Given the description of an element on the screen output the (x, y) to click on. 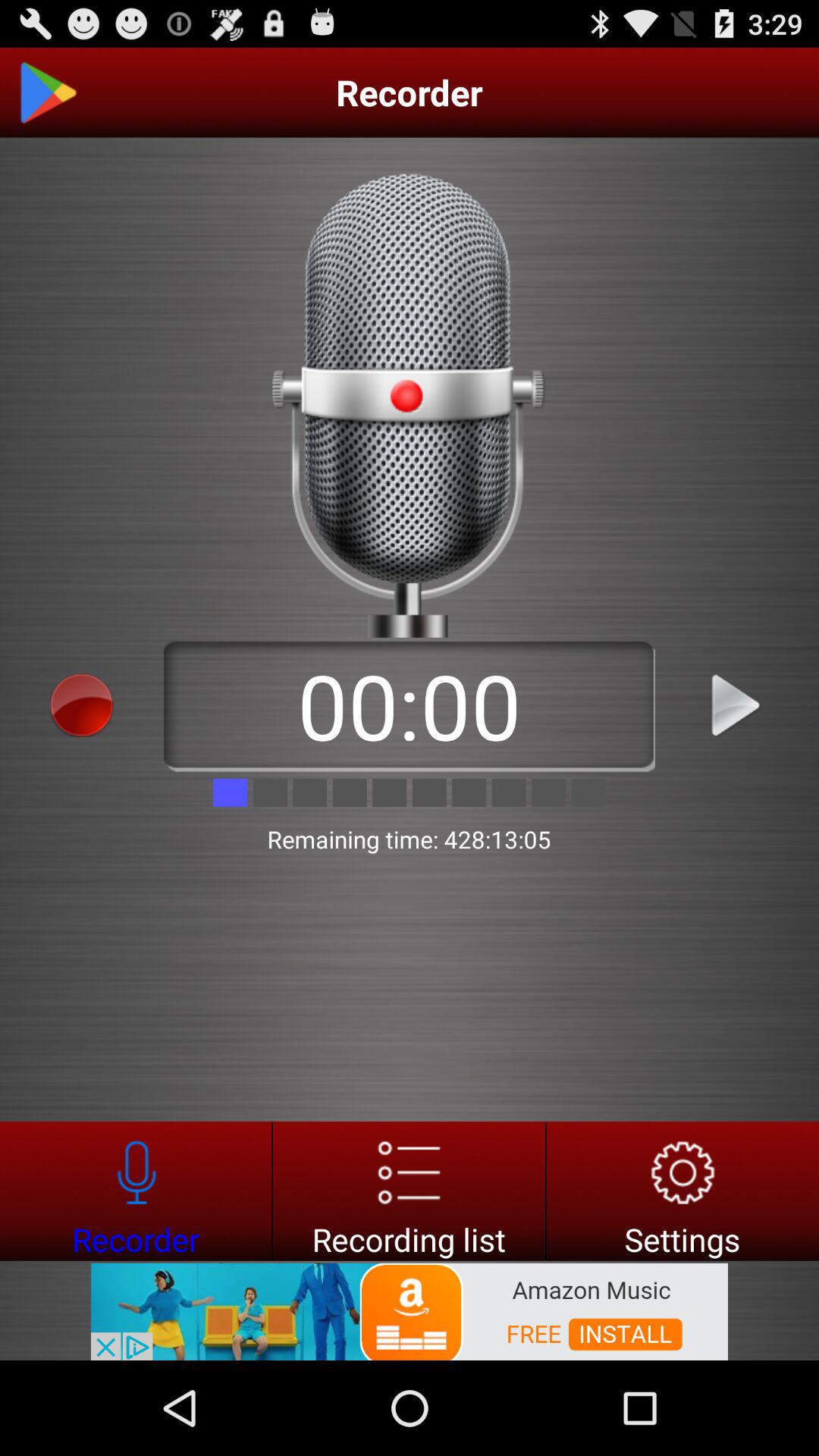
radio play (737, 705)
